Given the description of an element on the screen output the (x, y) to click on. 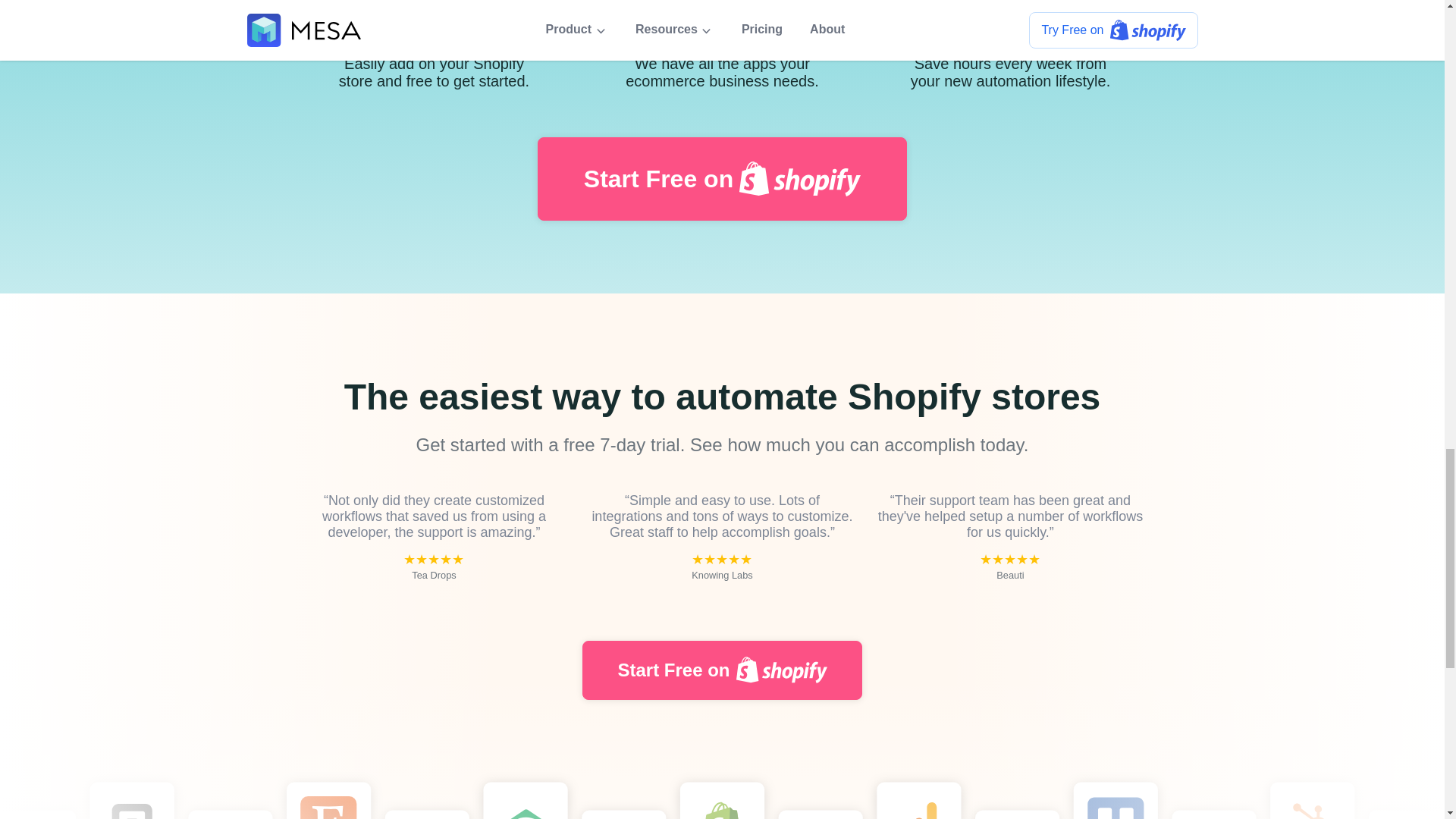
Start Free on (722, 178)
Start Free on (721, 670)
